Given the description of an element on the screen output the (x, y) to click on. 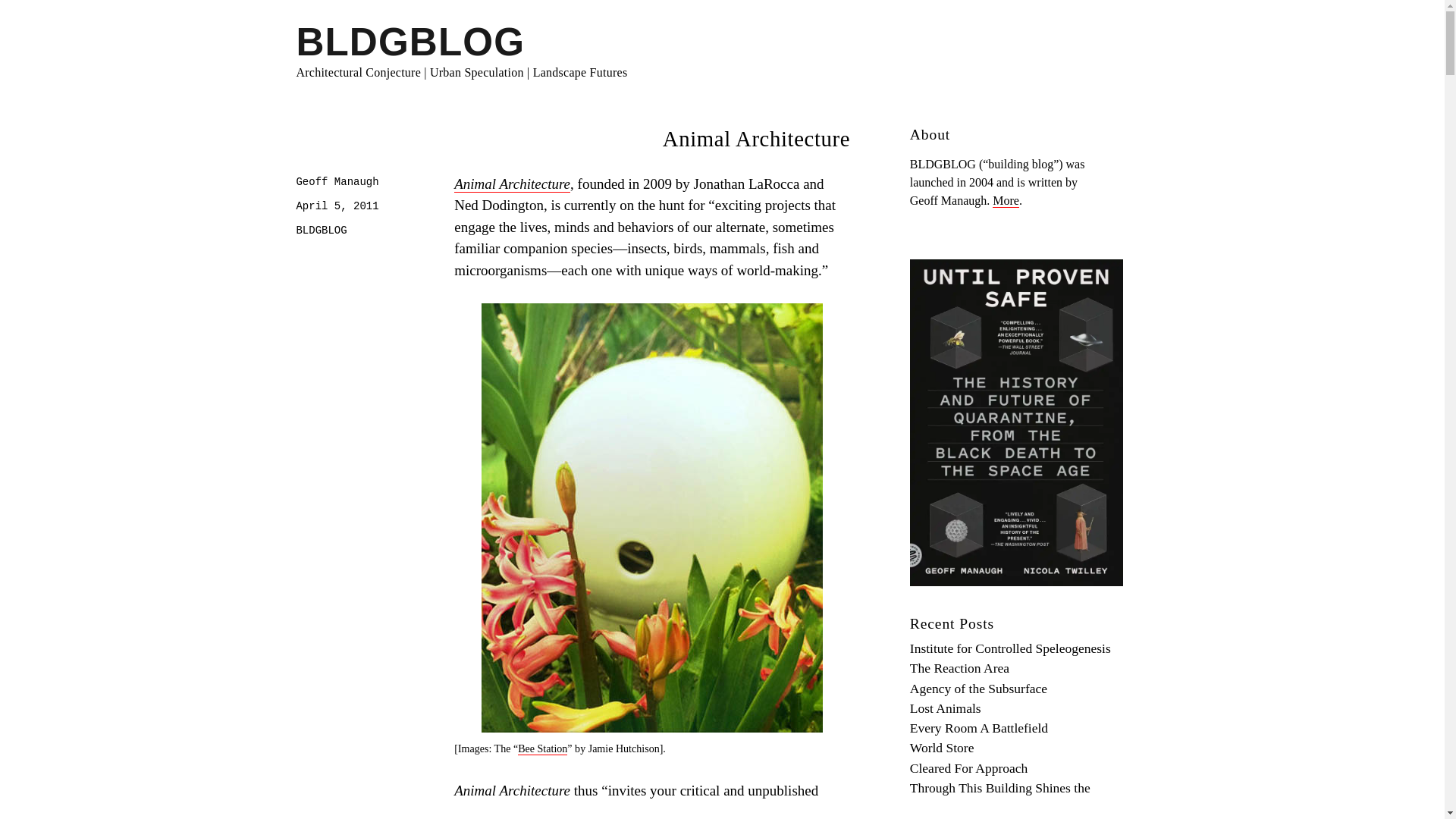
BLDGBLOG (409, 41)
Geoff Manaugh (336, 182)
Bee Station (542, 748)
Animal Architecture (512, 184)
BLDGBLOG (320, 230)
April 5, 2011 (336, 205)
